Given the description of an element on the screen output the (x, y) to click on. 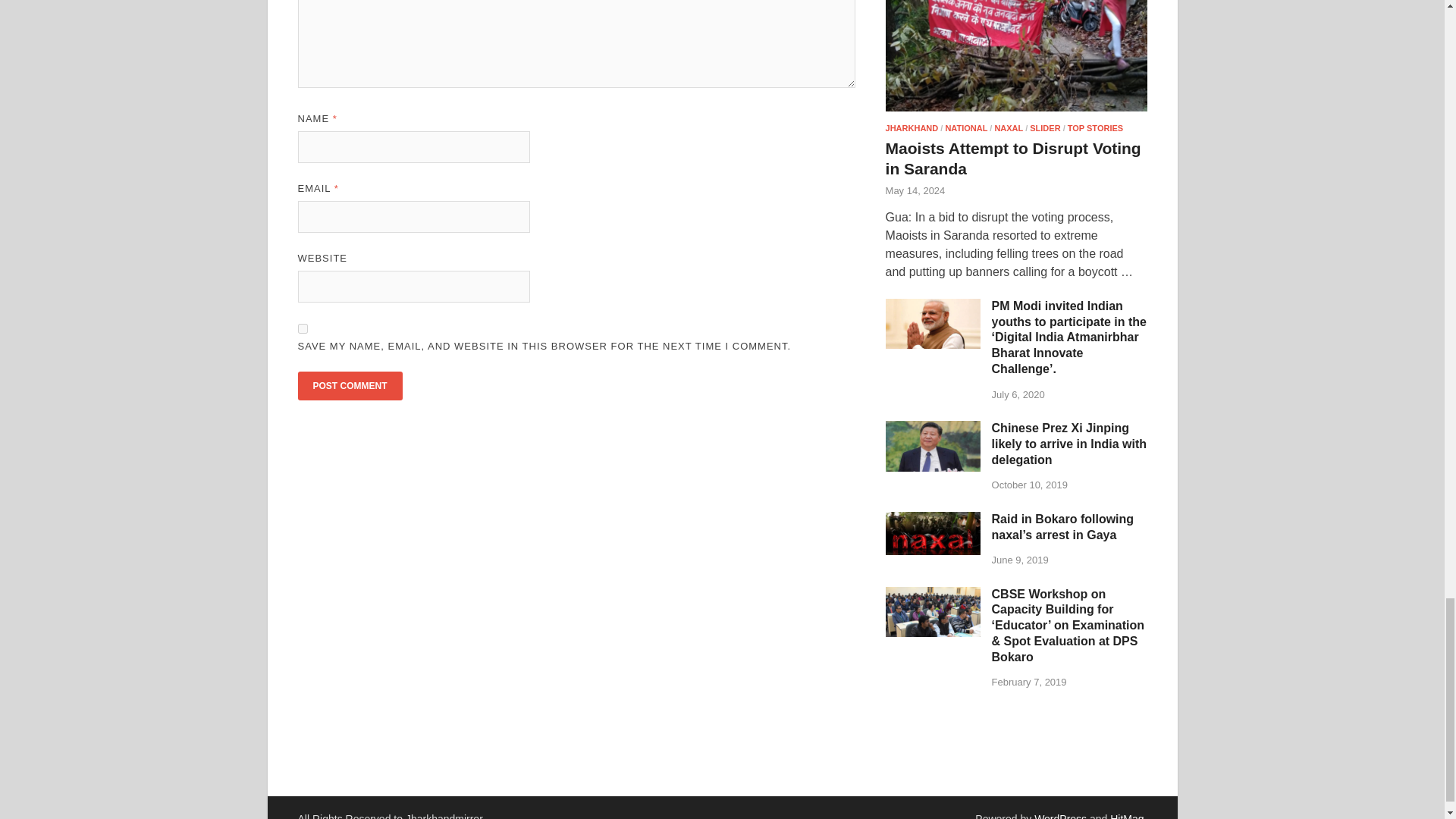
yes (302, 328)
Post Comment (349, 385)
Post Comment (349, 385)
